Given the description of an element on the screen output the (x, y) to click on. 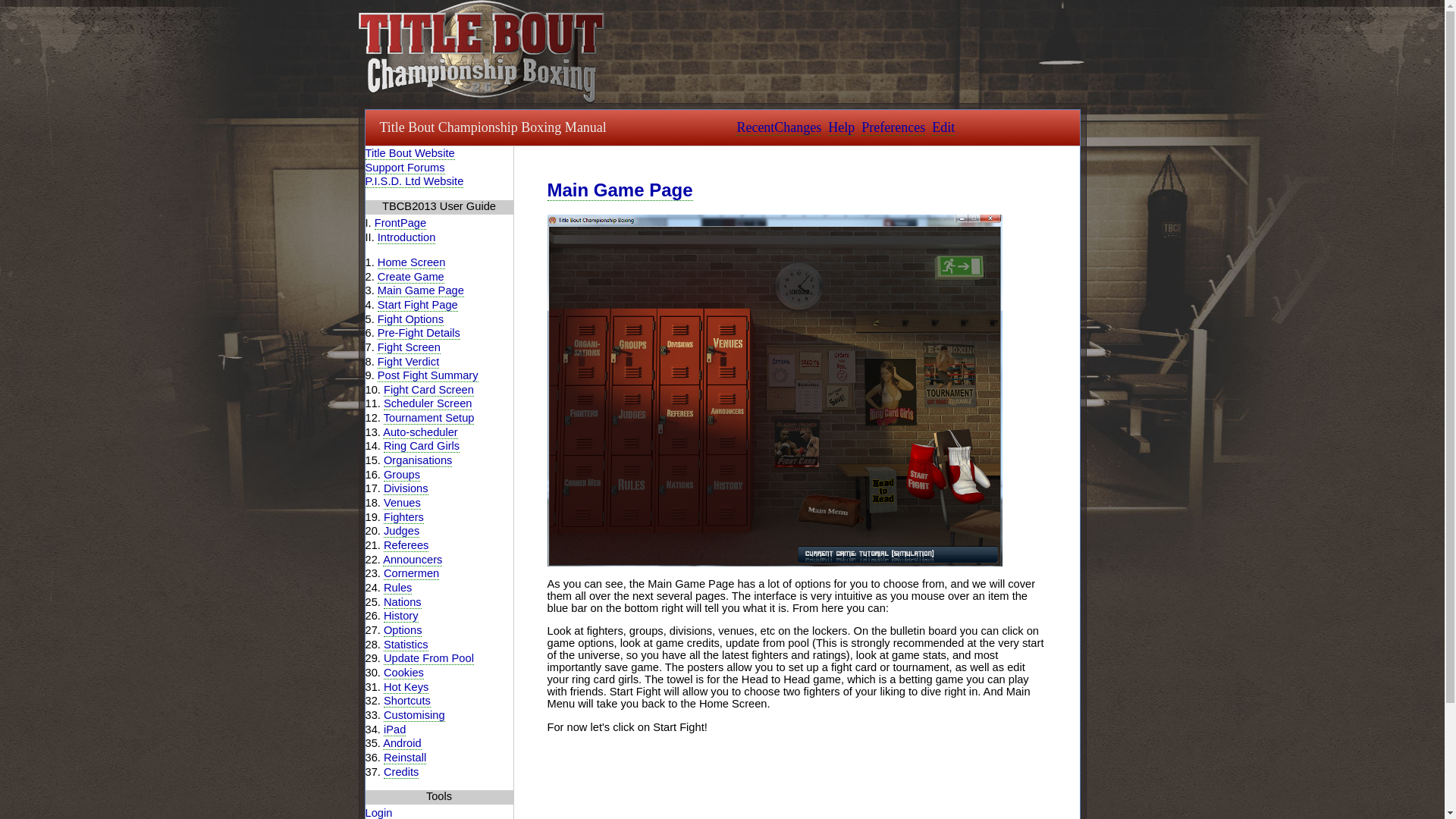
Nations (403, 602)
Post Fight Summary (428, 375)
Support Forums (405, 167)
Auto-scheduler (420, 431)
Fight Screen (409, 347)
Title Bout Website (409, 153)
Main Game Page (420, 290)
Rules (398, 587)
Ring Card Girls (422, 445)
Help (841, 127)
Tournament Setup (429, 418)
History (401, 615)
Pre-Fight Details (418, 332)
RecentChanges (778, 127)
Home Screen (411, 262)
